Given the description of an element on the screen output the (x, y) to click on. 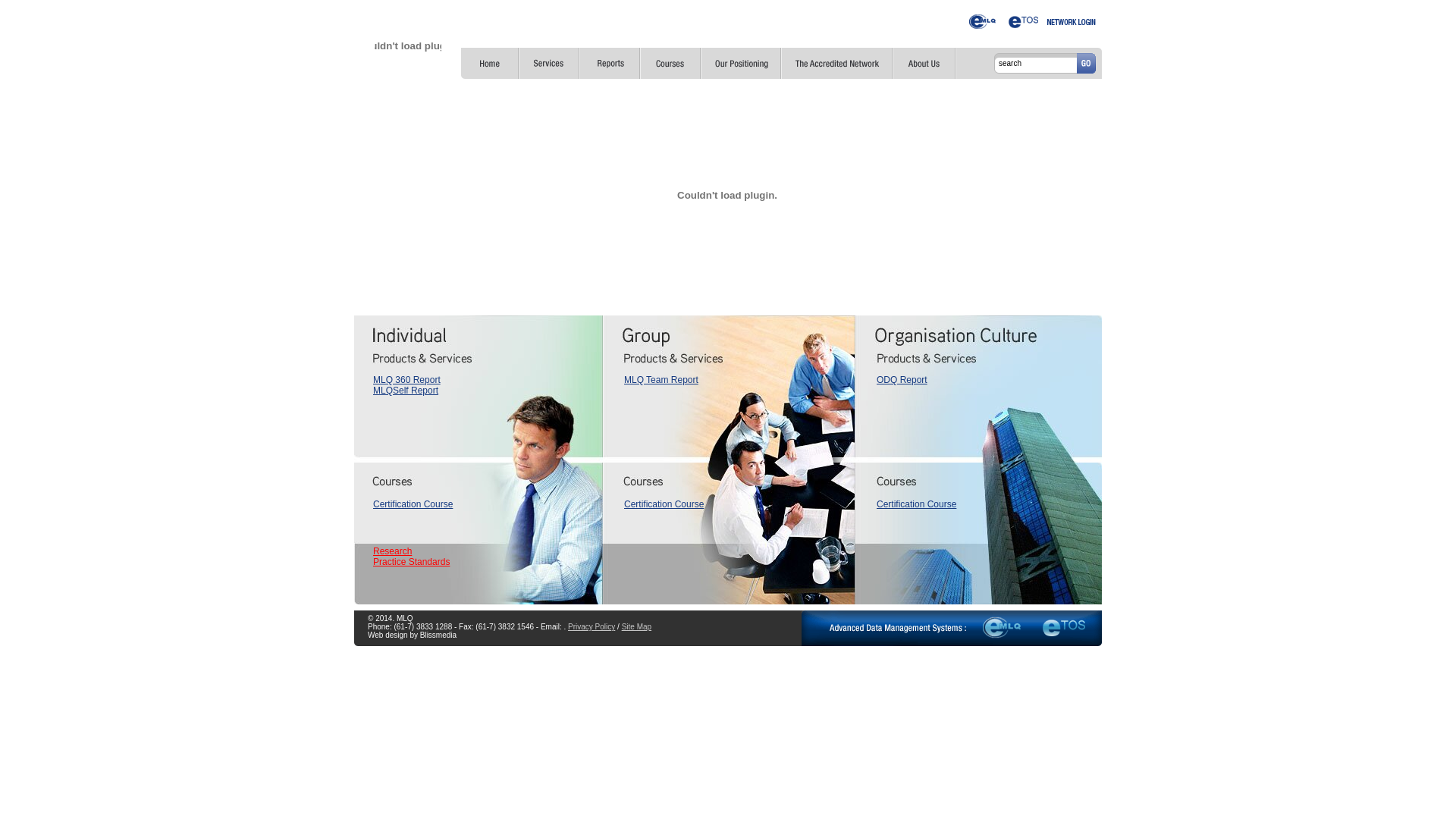
About Us Element type: hover (923, 62)
ODQ Report Element type: text (901, 379)
Network Login Element type: hover (1071, 22)
eTOS Element type: hover (1023, 22)
Services Element type: hover (548, 62)
Certification Course Element type: text (412, 503)
Our Positioning Element type: hover (740, 62)
MLQ Team Report Element type: text (661, 379)
Certification Course Element type: text (663, 503)
Privacy Policy Element type: text (591, 626)
Report Element type: hover (609, 62)
Certification Course Element type: text (916, 503)
Site Map Element type: text (636, 626)
MLQSelf Report Element type: text (405, 390)
Research Element type: text (392, 551)
The Accredited Network Element type: hover (836, 62)
Advanced Database Management Systems Element type: hover (951, 628)
eMLQ Element type: hover (982, 22)
Practice Standards Element type: text (411, 561)
MLQ 360 Report Element type: text (406, 379)
Home Element type: hover (489, 62)
Courses Element type: hover (670, 62)
